Given the description of an element on the screen output the (x, y) to click on. 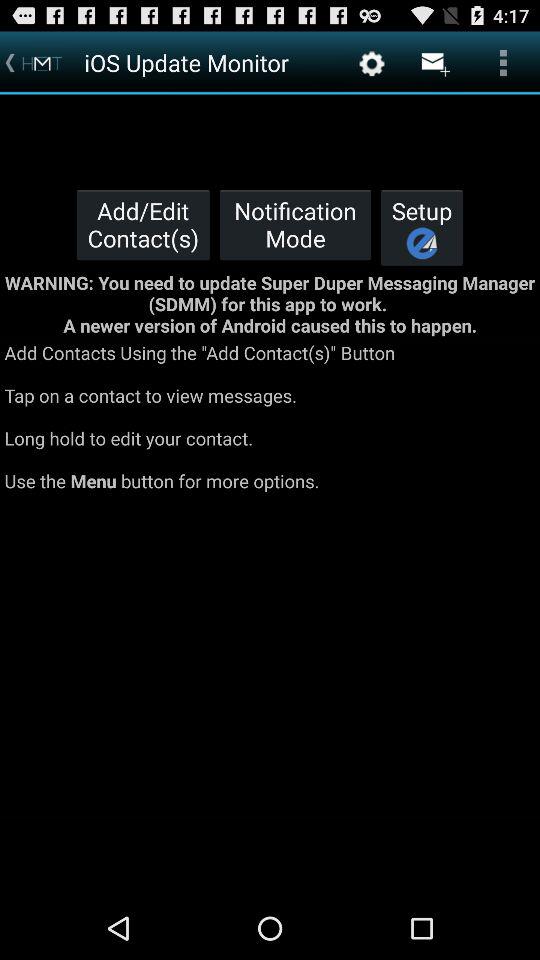
flip until notification
mode icon (295, 224)
